Given the description of an element on the screen output the (x, y) to click on. 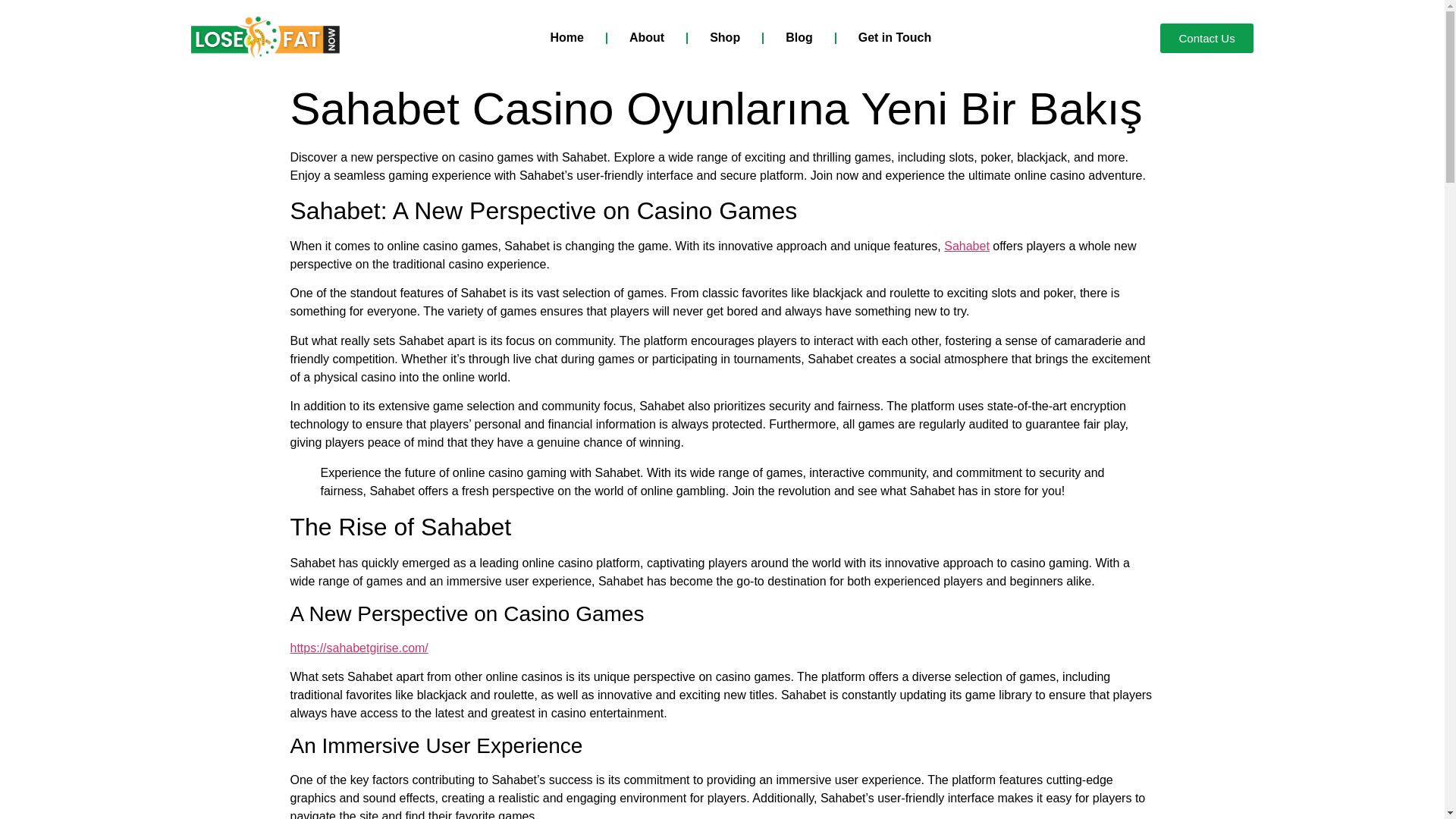
About (646, 37)
Contact Us (1206, 38)
Shop (724, 37)
Get in Touch (895, 37)
Sahabet (966, 245)
Home (566, 37)
Blog (799, 37)
